Given the description of an element on the screen output the (x, y) to click on. 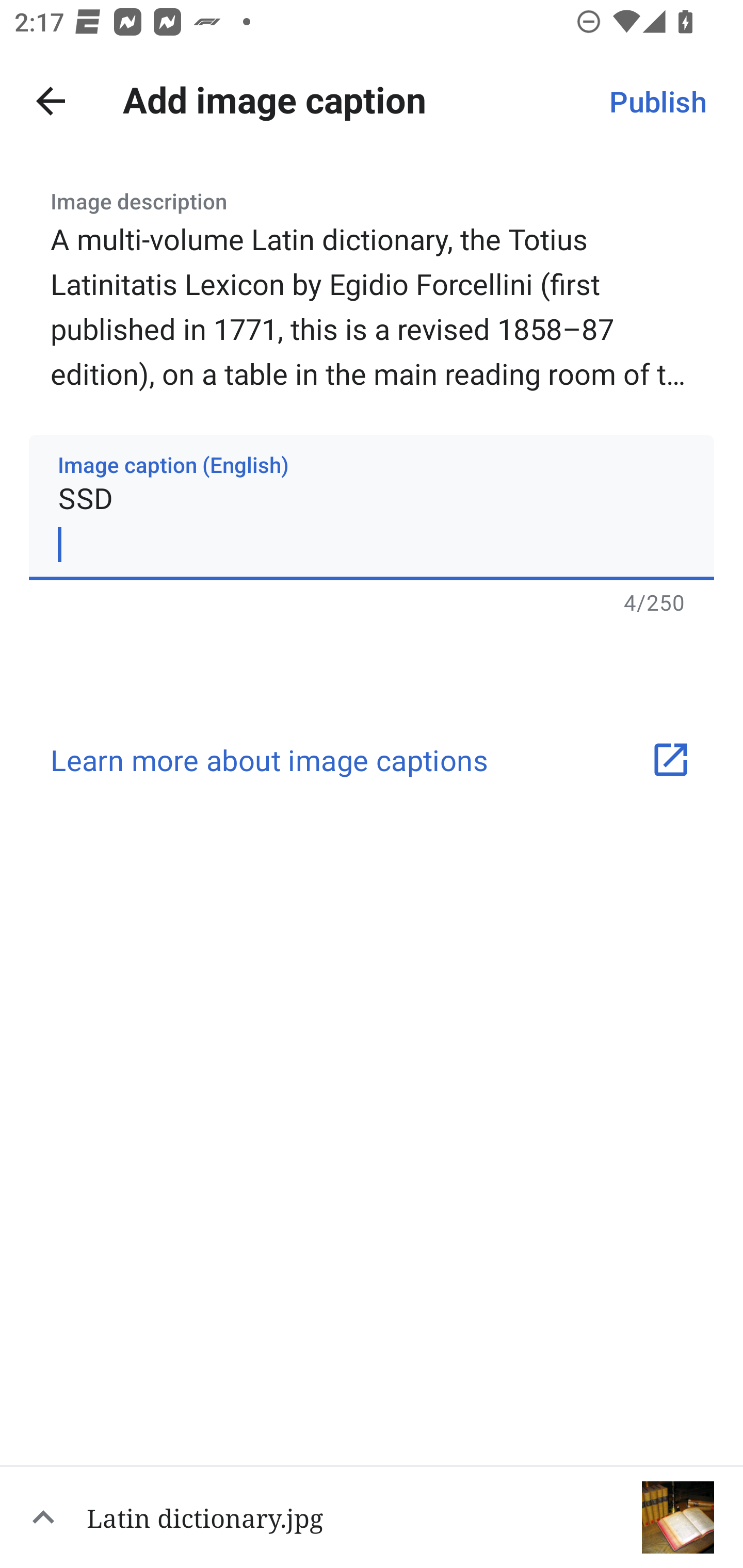
Cancel (50, 101)
Publish (657, 101)
SSD
 (371, 507)
Learn more about image captions (371, 759)
Latin dictionary.jpg (371, 1516)
